Given the description of an element on the screen output the (x, y) to click on. 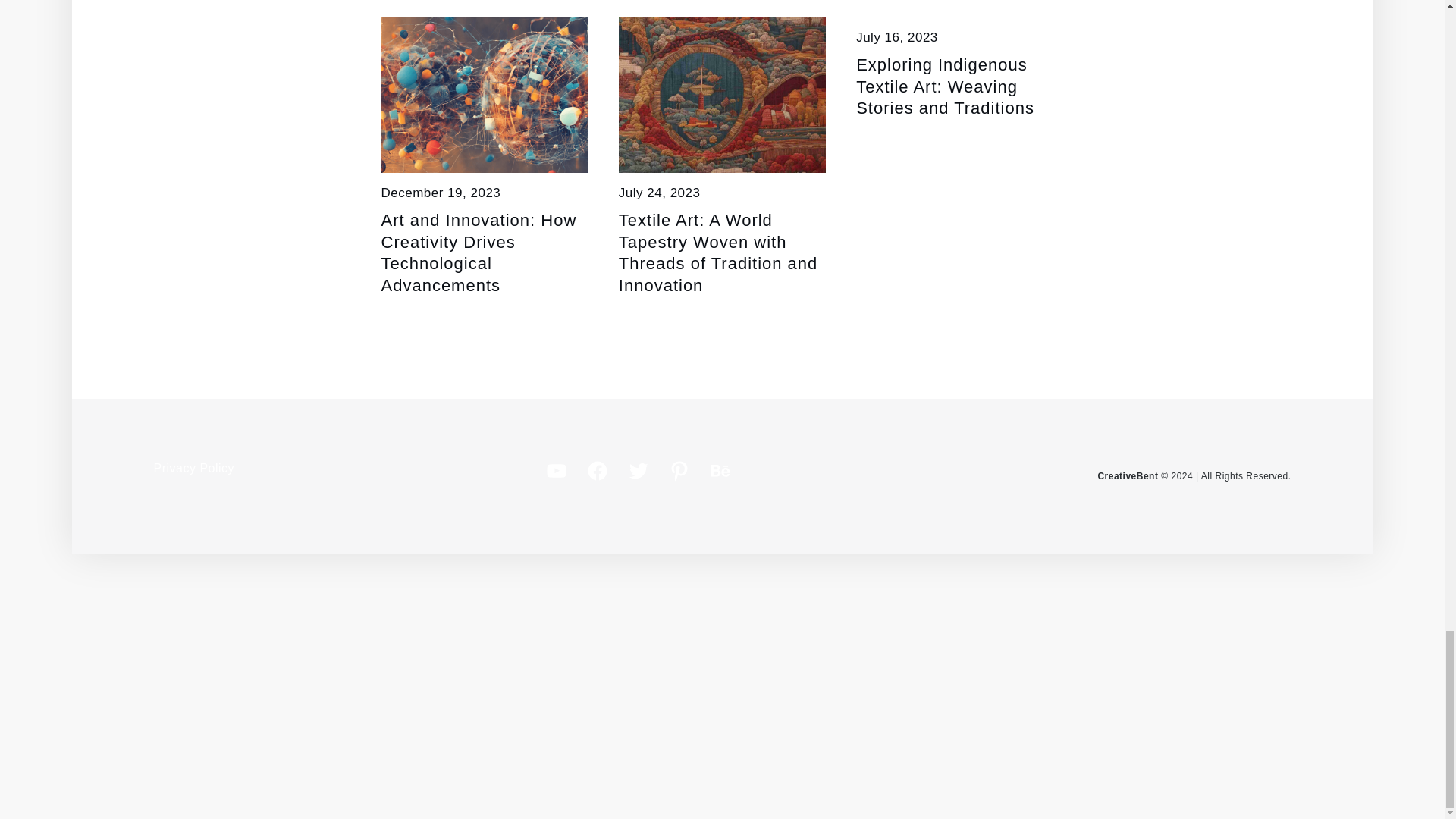
Twitter (638, 470)
Facebook (597, 470)
July 16, 2023 (896, 37)
Pinterest (679, 470)
December 19, 2023 (440, 192)
July 24, 2023 (659, 192)
Privacy Policy (193, 468)
Behance (720, 470)
YouTube (555, 470)
